Given the description of an element on the screen output the (x, y) to click on. 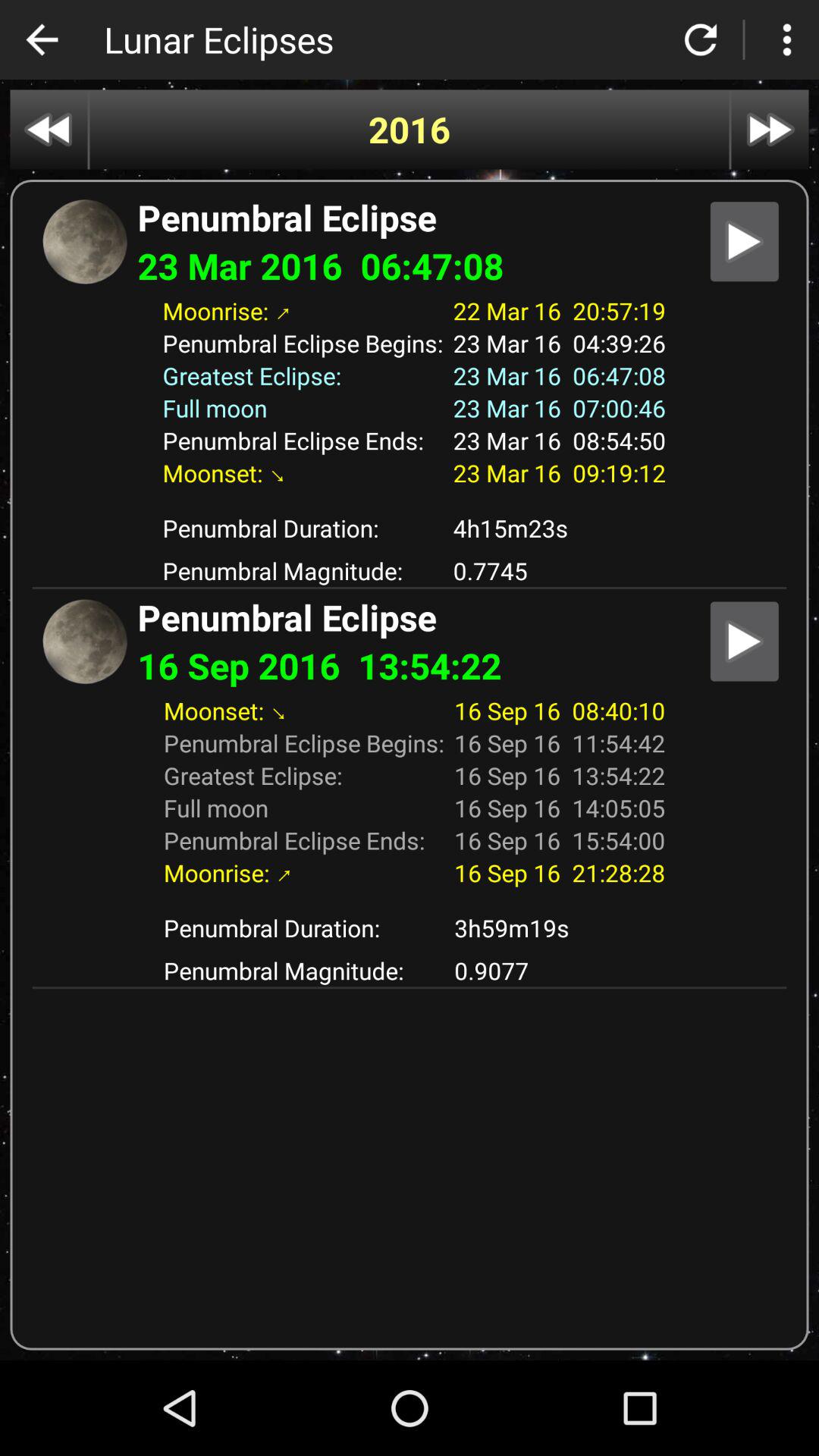
click the app above penumbral duration: icon (409, 500)
